Given the description of an element on the screen output the (x, y) to click on. 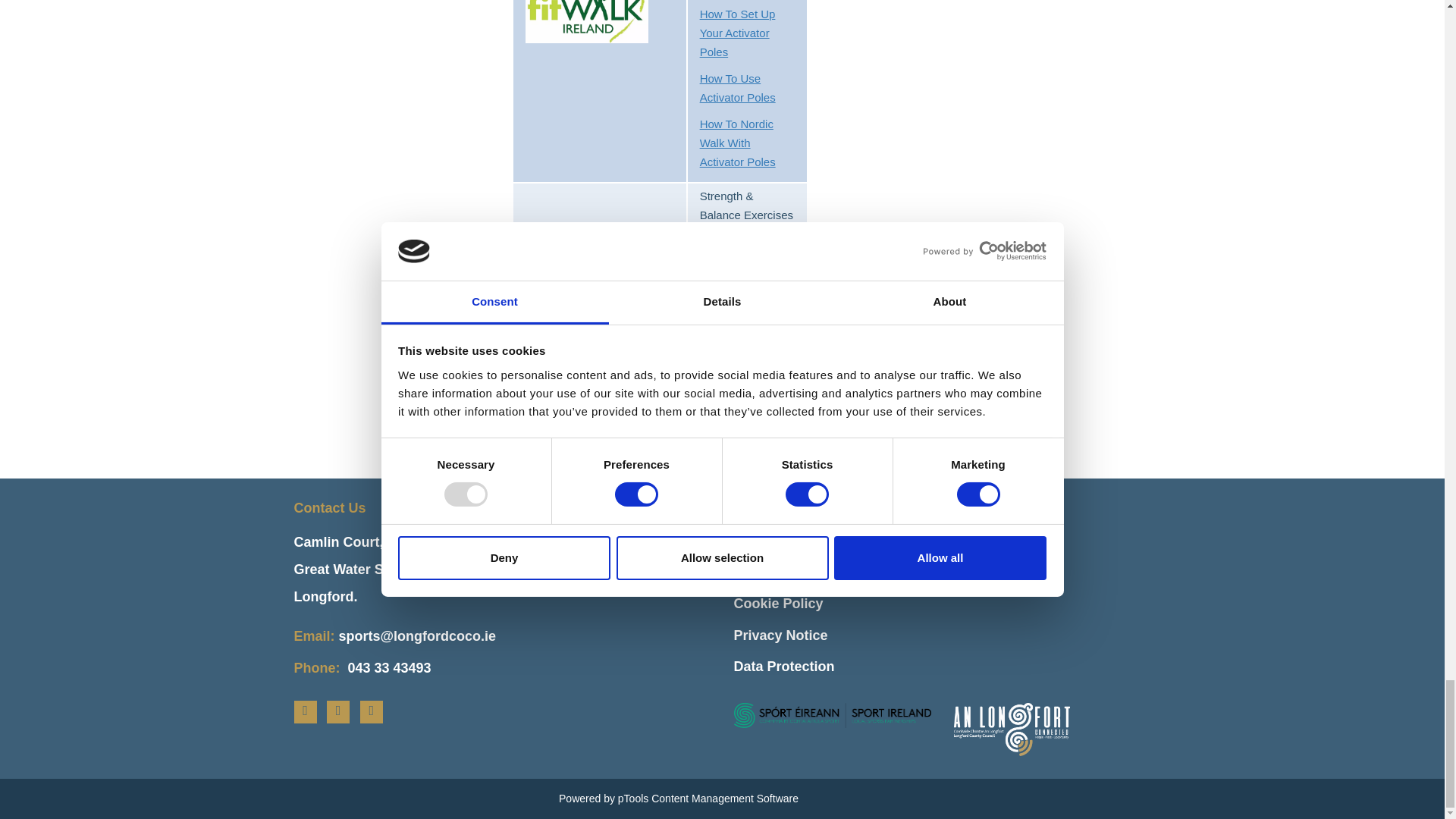
ShareThis (549, 445)
ISCP-logo (586, 282)
Screenshot-2020-05-10-at-13.32.26 (586, 21)
